Given the description of an element on the screen output the (x, y) to click on. 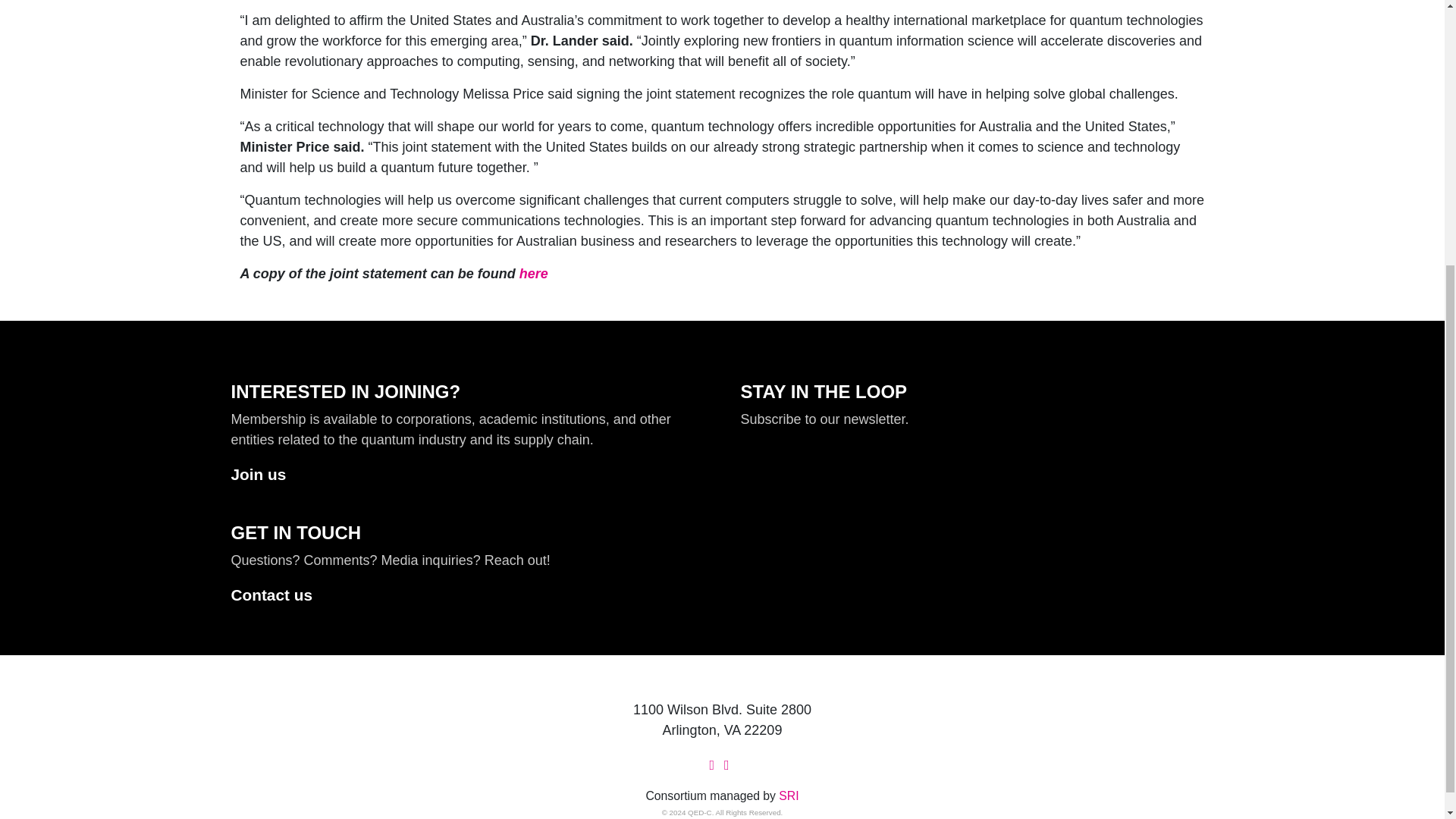
Contact us (280, 594)
SRI (787, 795)
here (533, 273)
Join us (267, 474)
